Given the description of an element on the screen output the (x, y) to click on. 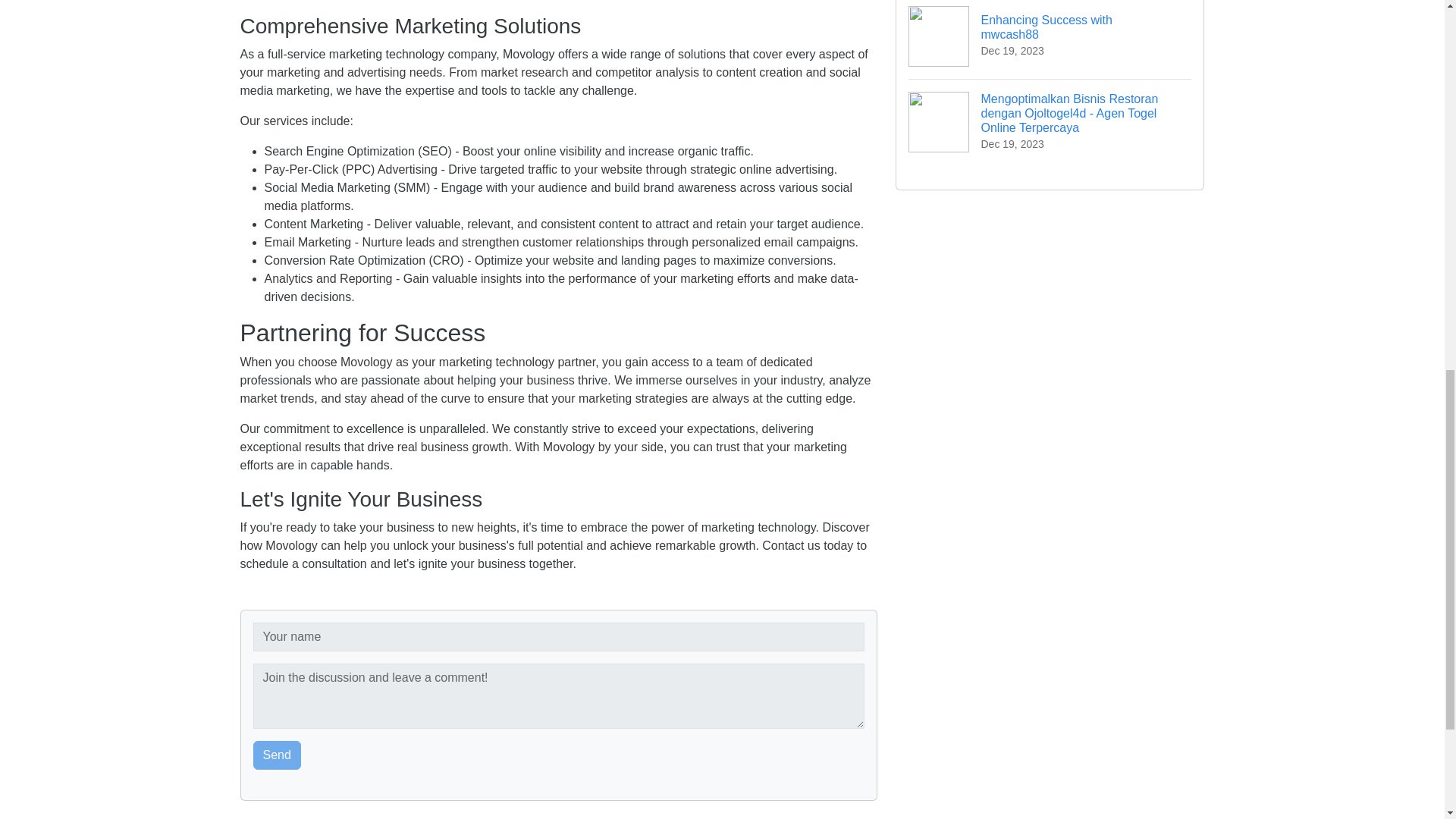
Send (277, 755)
Send (1050, 39)
